Given the description of an element on the screen output the (x, y) to click on. 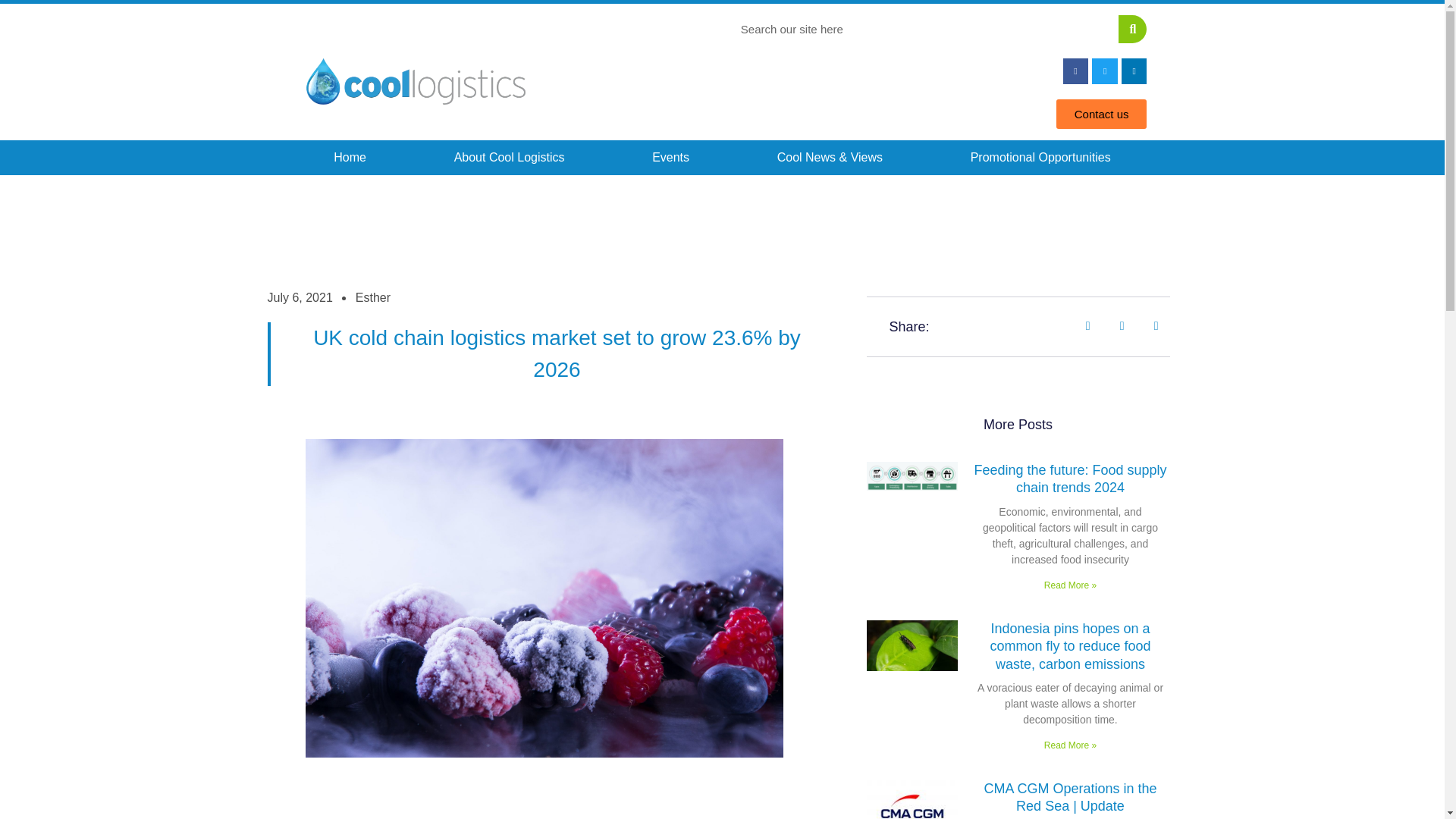
Esther (372, 298)
July 6, 2021 (298, 298)
About Cool Logistics (509, 157)
Promotional Opportunities (1040, 157)
Home (349, 157)
Events (670, 157)
Contact us (1102, 113)
